Given the description of an element on the screen output the (x, y) to click on. 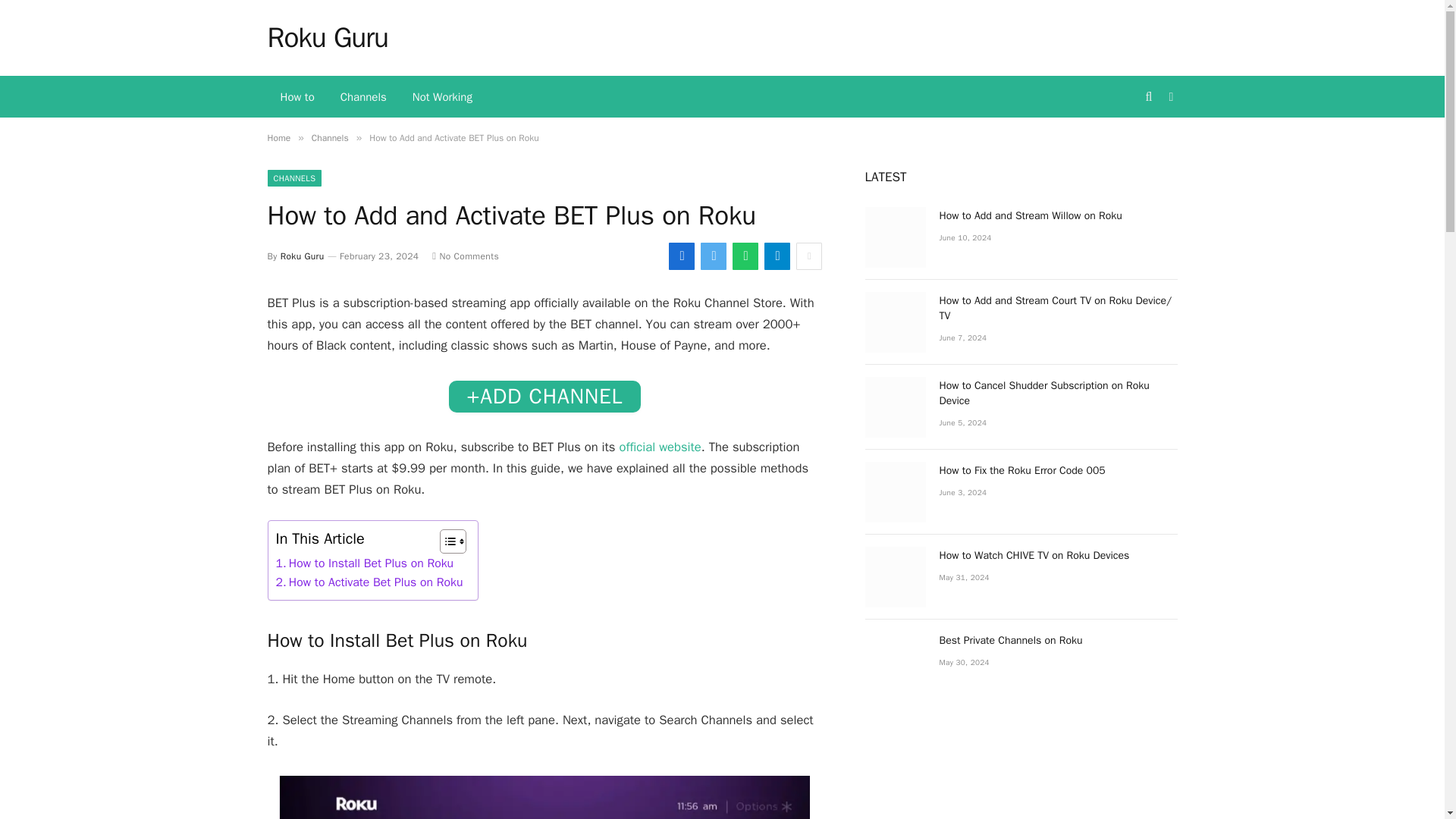
Channels (330, 137)
How to Activate Bet Plus on Roku (369, 582)
official website (659, 446)
Home (277, 137)
Switch to Dark Design - easier on eyes. (1168, 96)
How to Install Bet Plus on Roku (365, 563)
No Comments (465, 256)
Roku Guru (327, 37)
Channels (362, 96)
How to Install Bet Plus on Roku (365, 563)
